Given the description of an element on the screen output the (x, y) to click on. 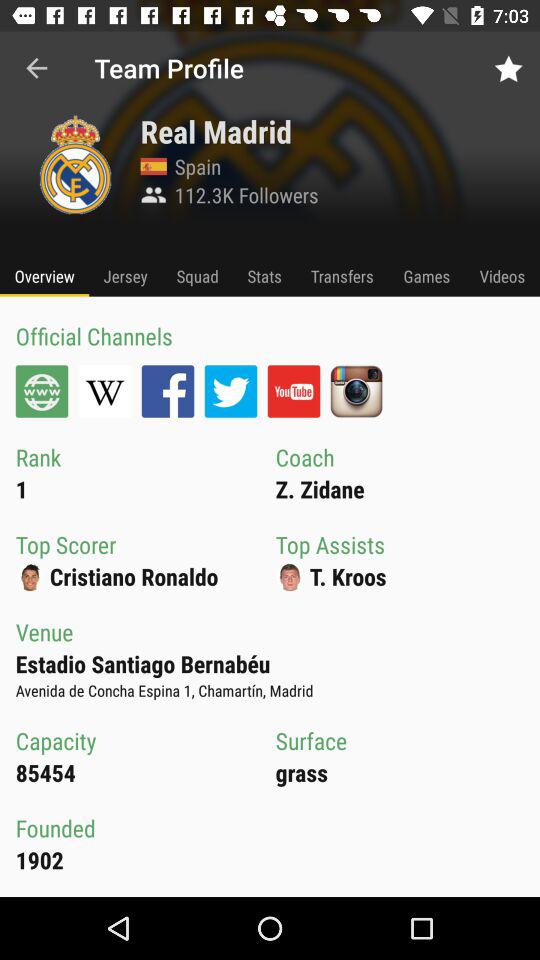
toggle to wikipedia option (104, 391)
